Given the description of an element on the screen output the (x, y) to click on. 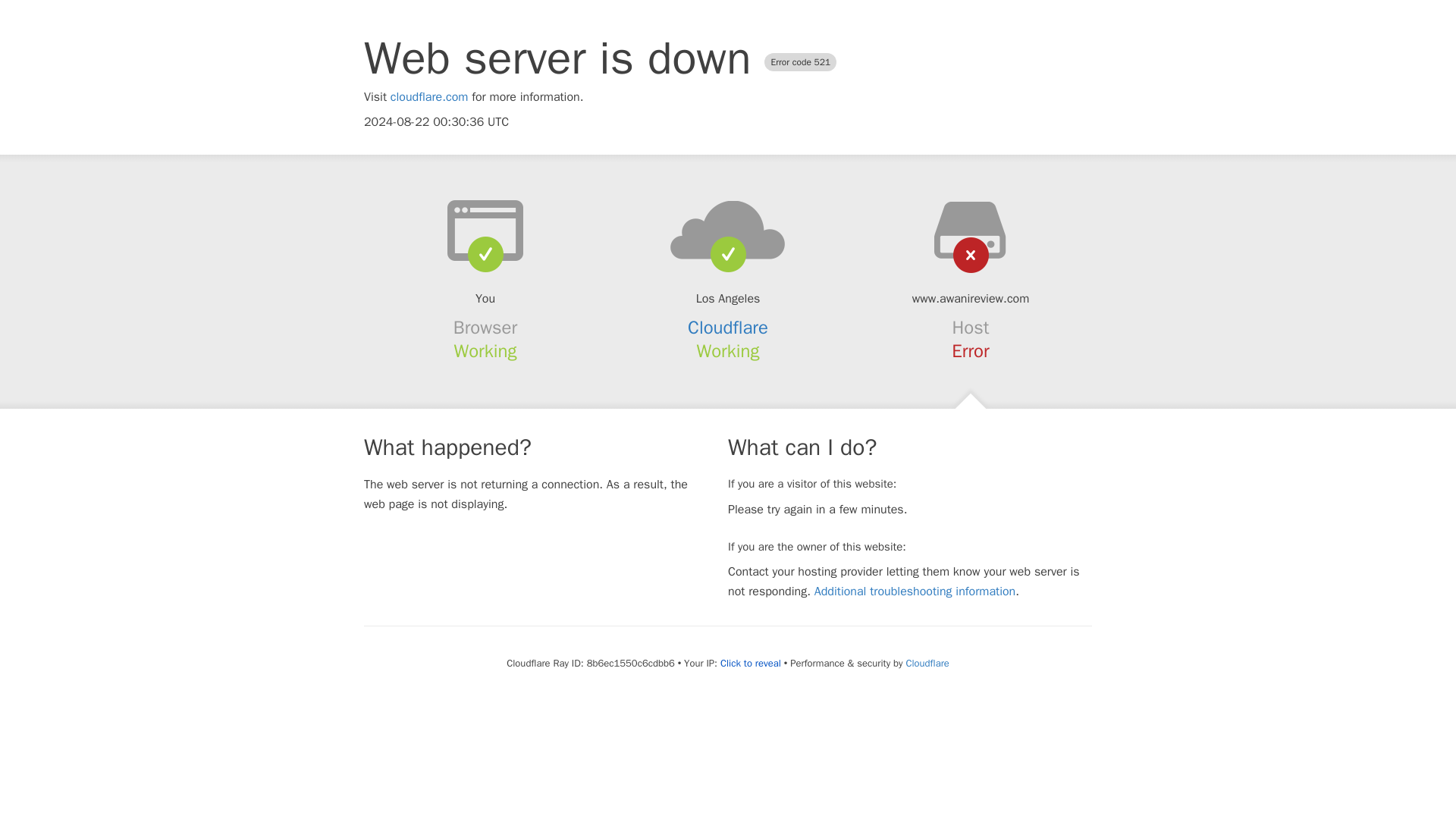
Cloudflare (927, 662)
Click to reveal (750, 663)
Cloudflare (727, 327)
cloudflare.com (429, 96)
Additional troubleshooting information (913, 590)
